Given the description of an element on the screen output the (x, y) to click on. 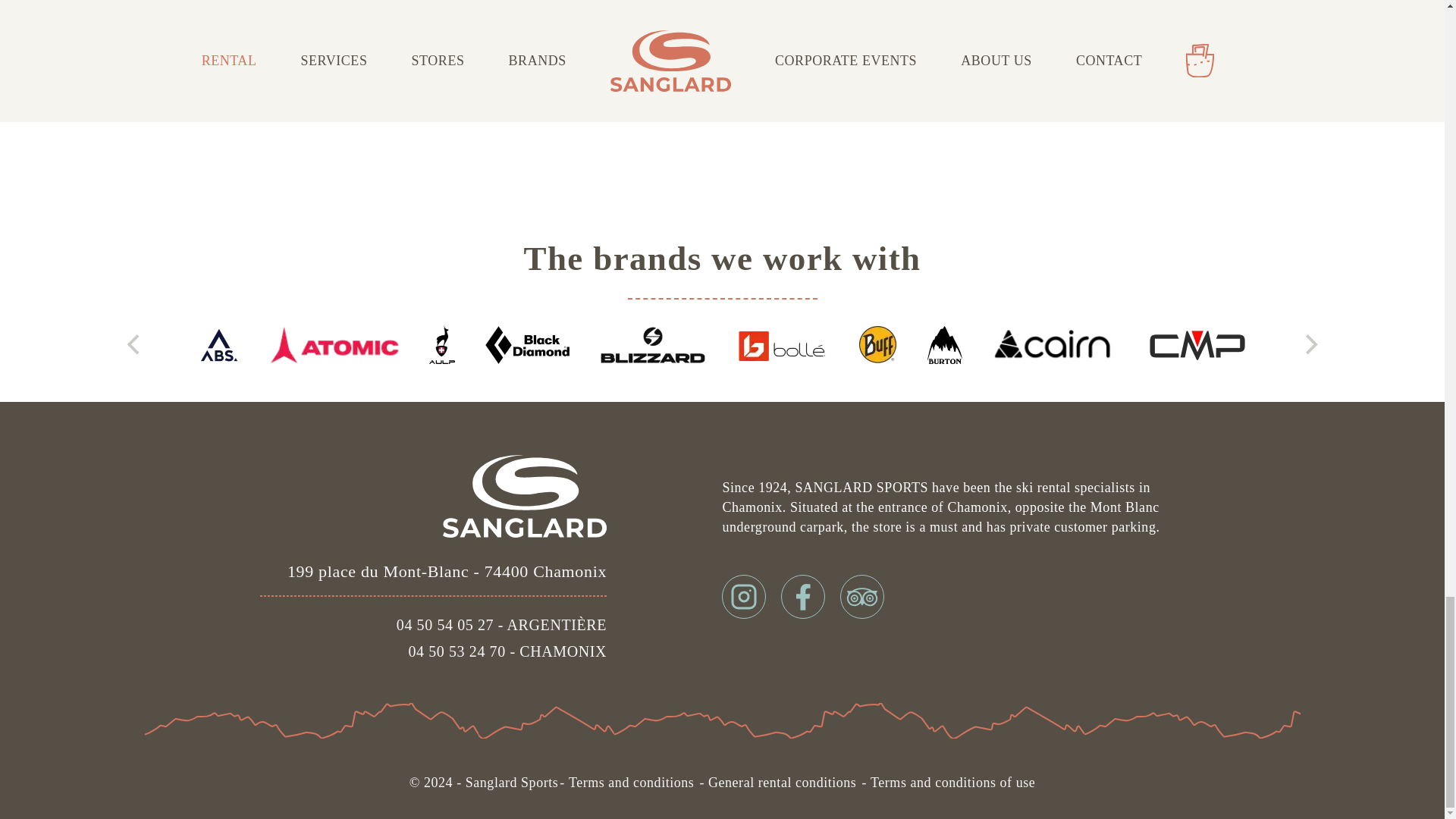
Burton 2.png (944, 344)
Buff.png (877, 344)
Blizzard.png (652, 344)
ABS.png (219, 344)
Cairn.png (1054, 344)
CMP.png (1198, 344)
Aulp.png (441, 344)
Black diamond.png (526, 344)
bolle-vector-logo.png (782, 344)
